Given the description of an element on the screen output the (x, y) to click on. 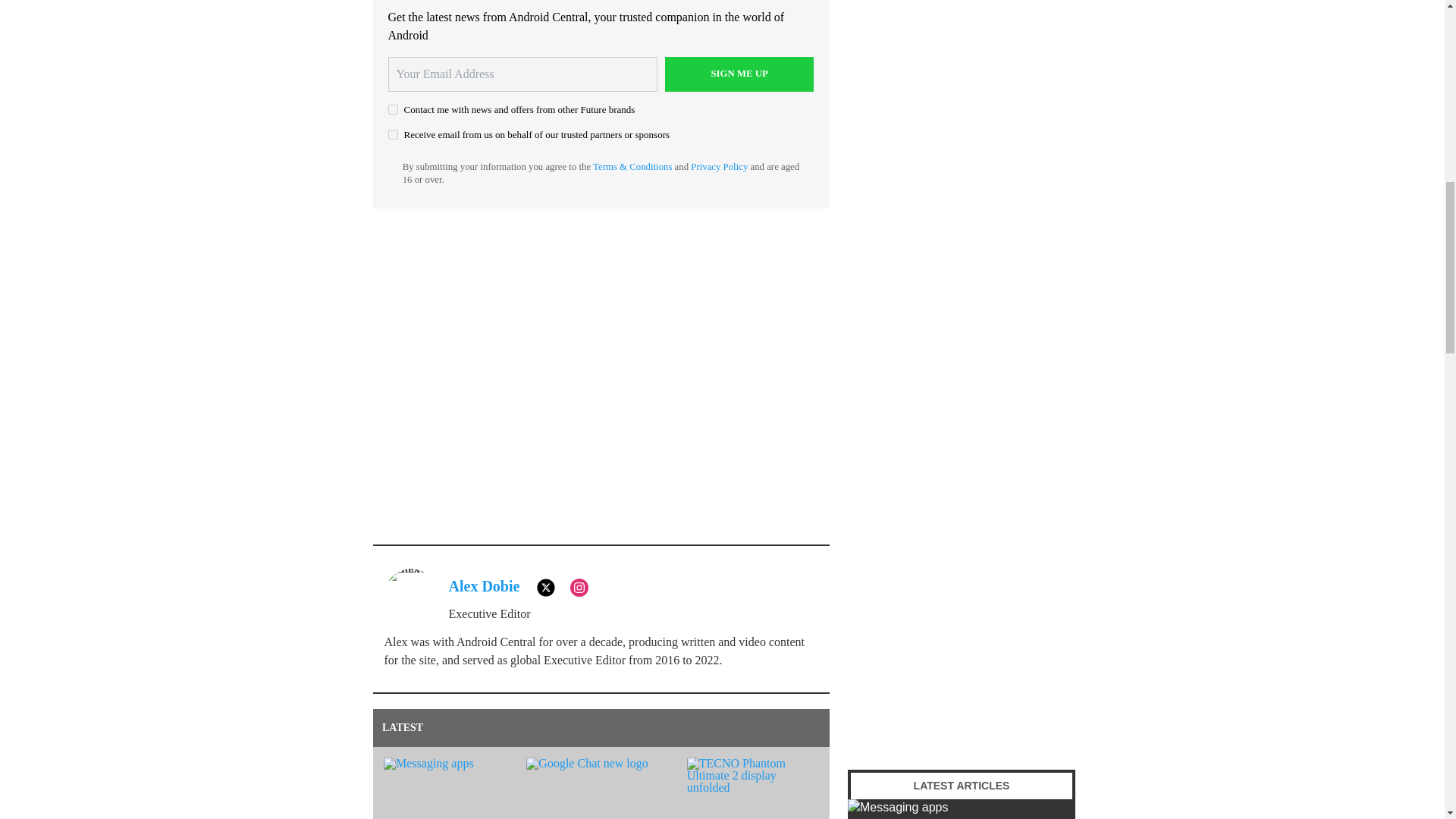
Not all messaging apps are equal when it comes to encryption (961, 809)
Sign me up (739, 73)
on (392, 109)
on (392, 134)
